Given the description of an element on the screen output the (x, y) to click on. 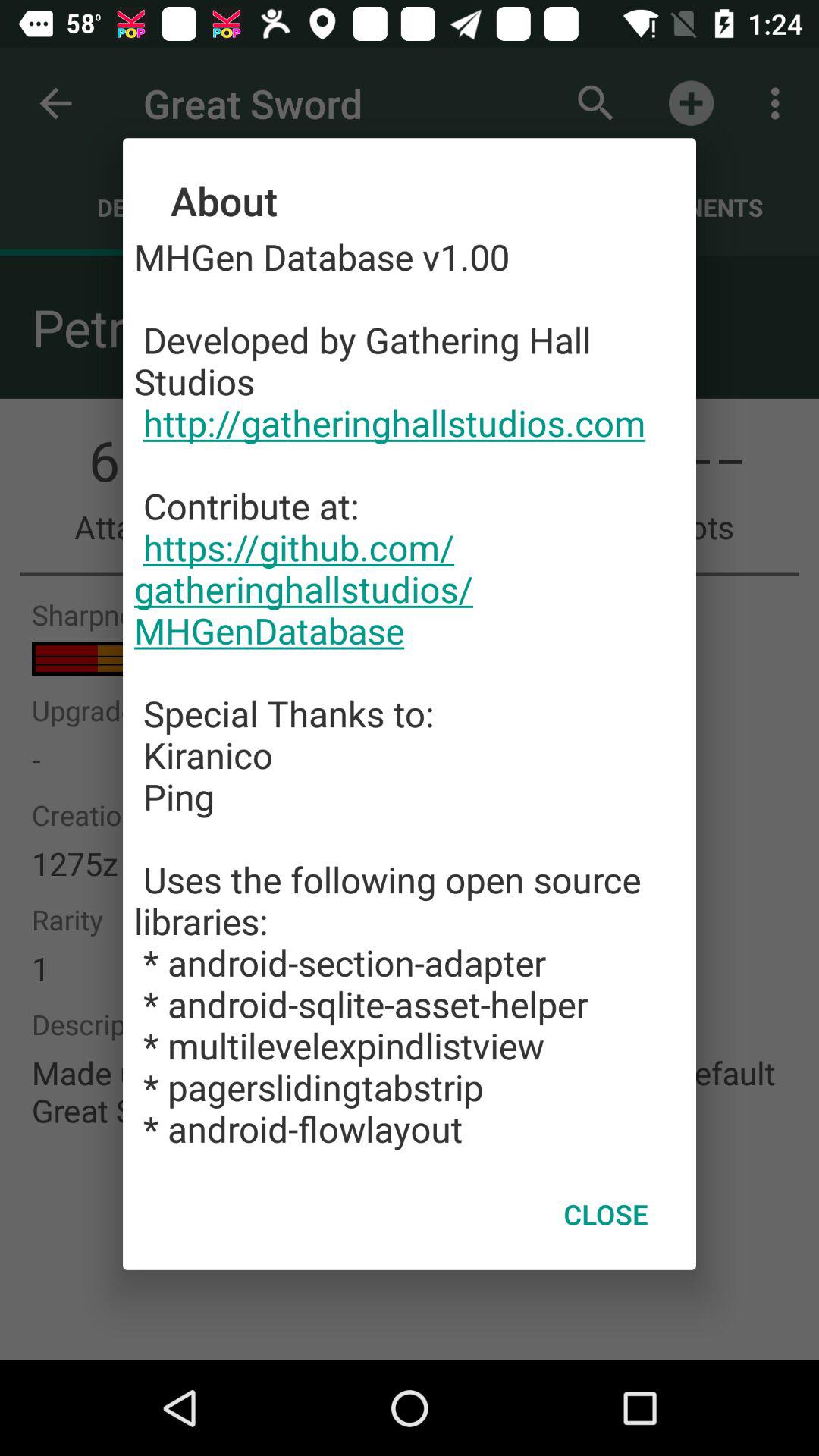
swipe to mhgen database v1 (409, 692)
